Given the description of an element on the screen output the (x, y) to click on. 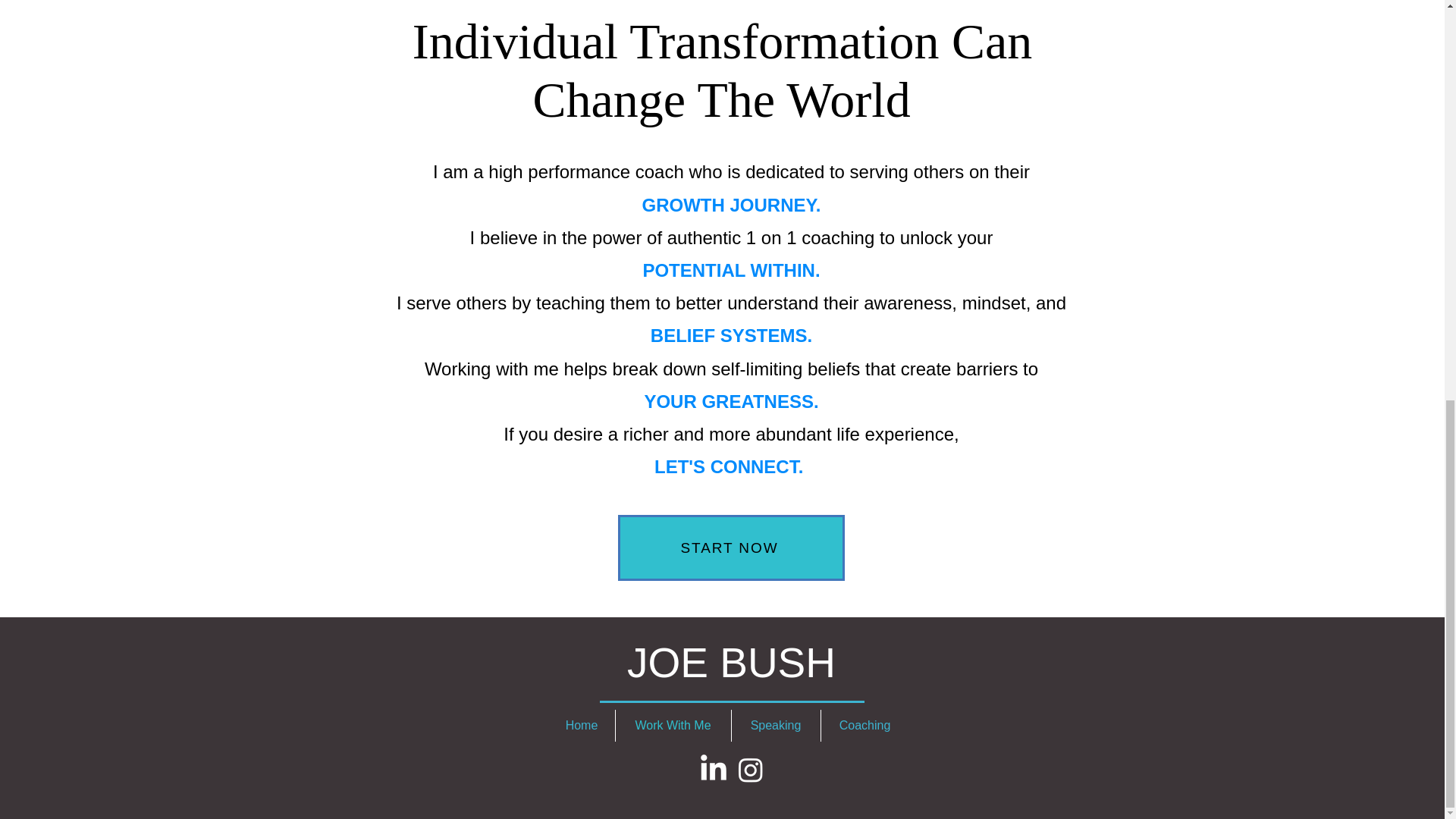
Work With Me (672, 726)
Speaking (774, 726)
START NOW (730, 547)
Home (581, 726)
Coaching (864, 726)
